Given the description of an element on the screen output the (x, y) to click on. 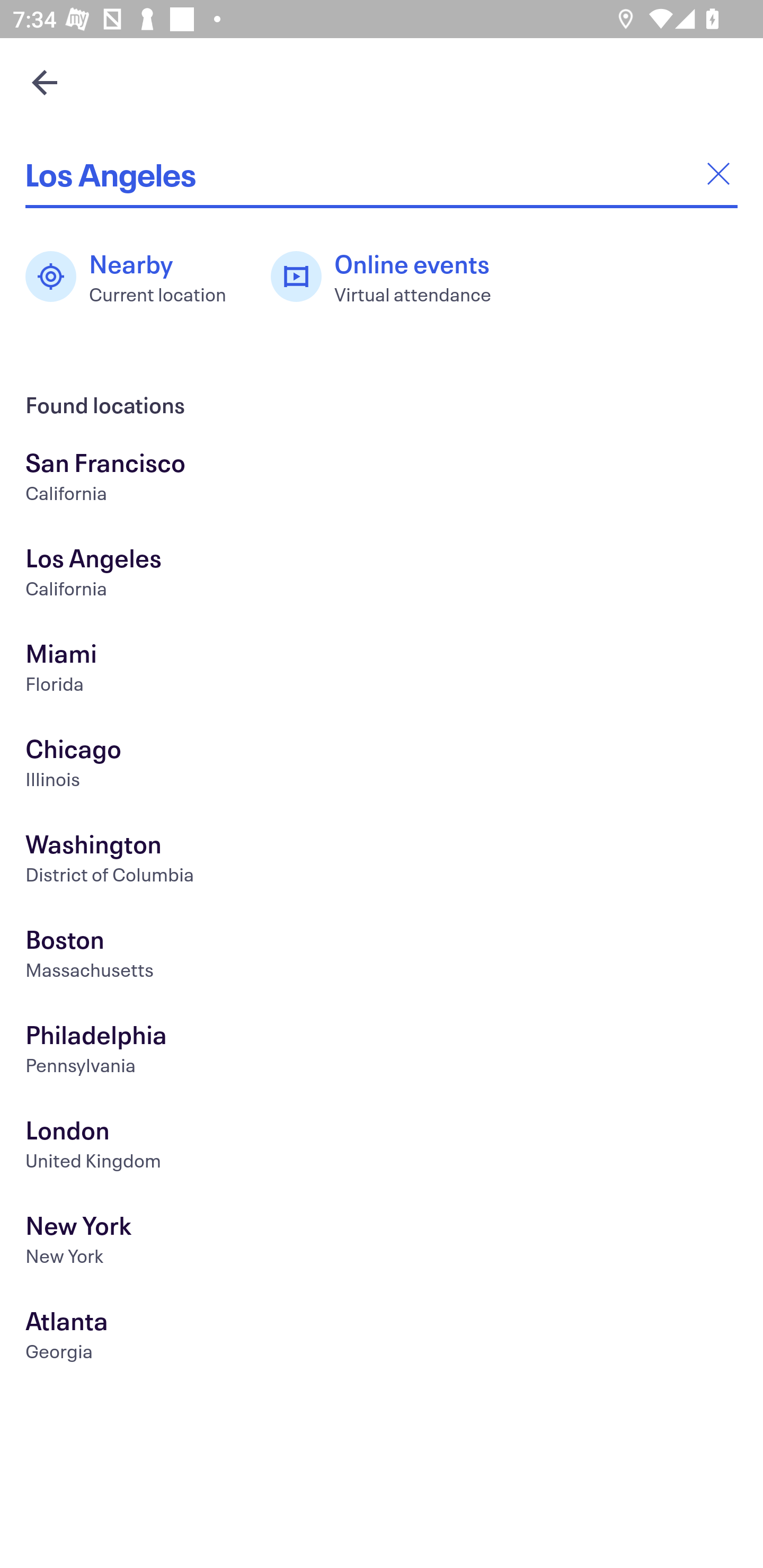
Navigate up (44, 82)
Los Angeles (381, 173)
Nearby Current location (135, 276)
Online events Virtual attendance (390, 276)
San Francisco California (381, 479)
Los Angeles California (381, 574)
Miami Florida (381, 670)
Chicago Illinois (381, 765)
Washington District of Columbia (381, 861)
Boston Massachusetts (381, 955)
Philadelphia Pennsylvania (381, 1051)
London United Kingdom (381, 1146)
New York (381, 1242)
Atlanta Georgia (381, 1338)
